Given the description of an element on the screen output the (x, y) to click on. 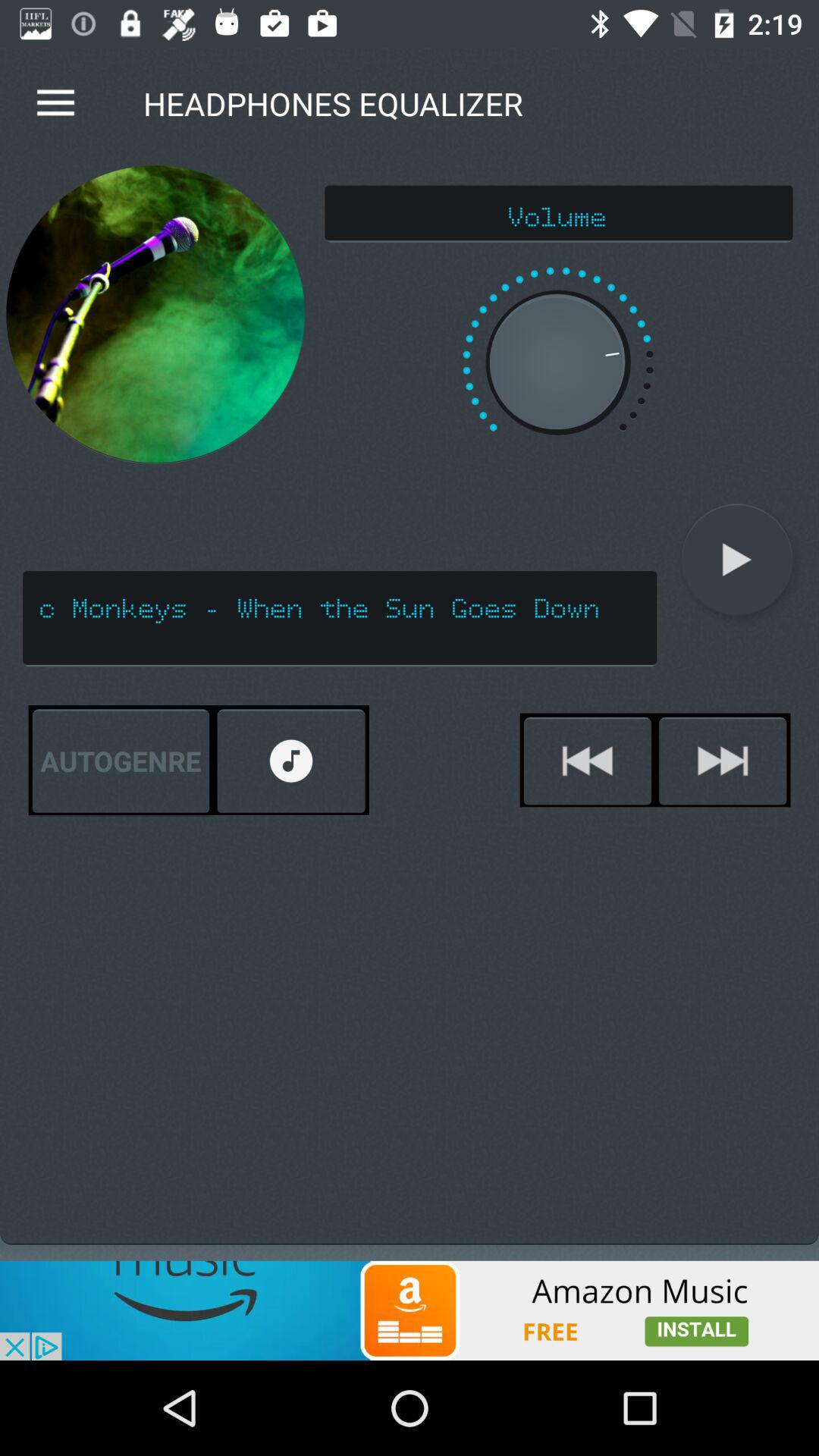
turn off the autogenre on the left (120, 760)
